Given the description of an element on the screen output the (x, y) to click on. 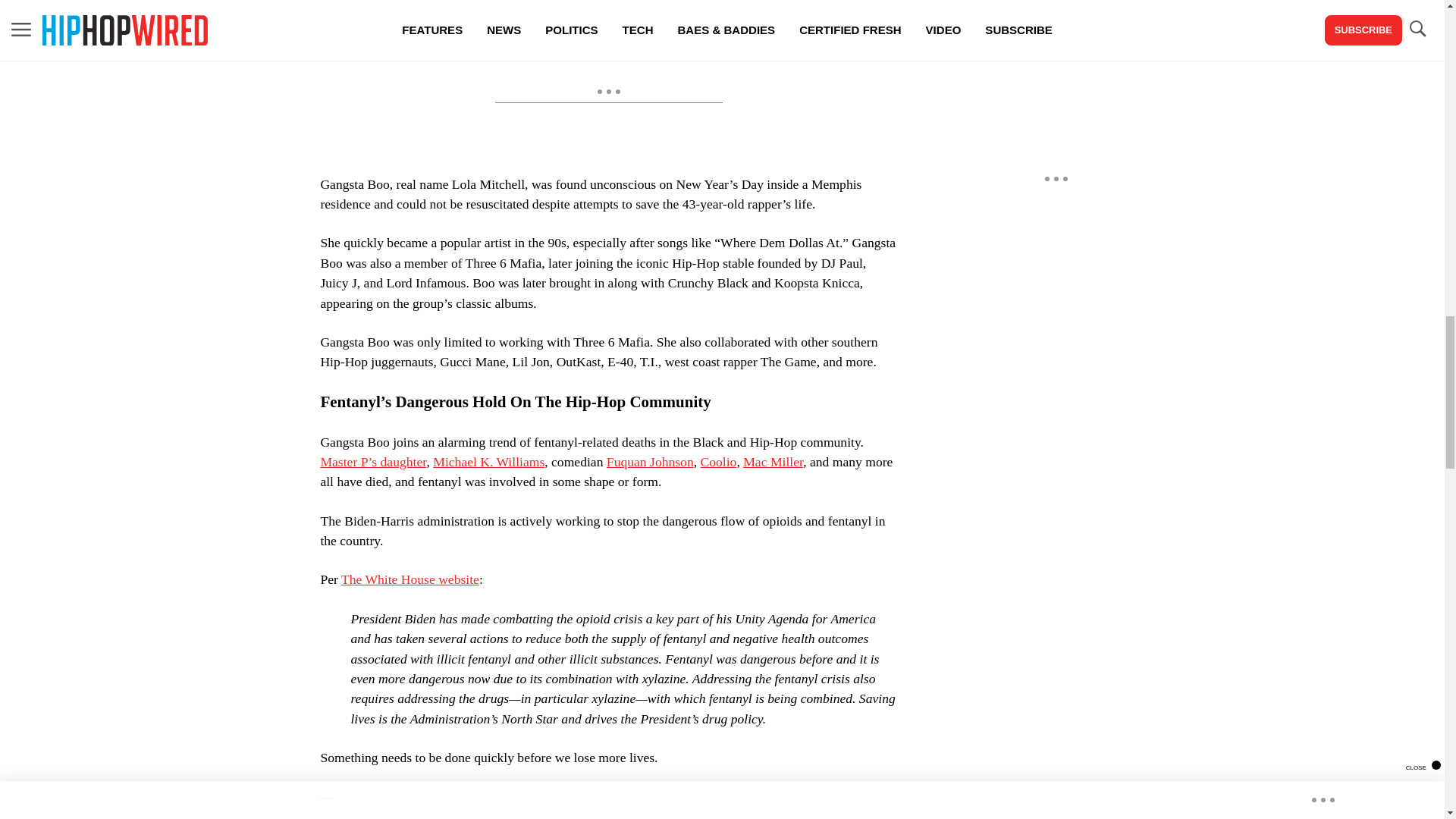
The White House website (409, 579)
Mac Miller (772, 461)
Fuquan Johnson (650, 461)
Michael K. Williams (488, 461)
Coolio (718, 461)
